Given the description of an element on the screen output the (x, y) to click on. 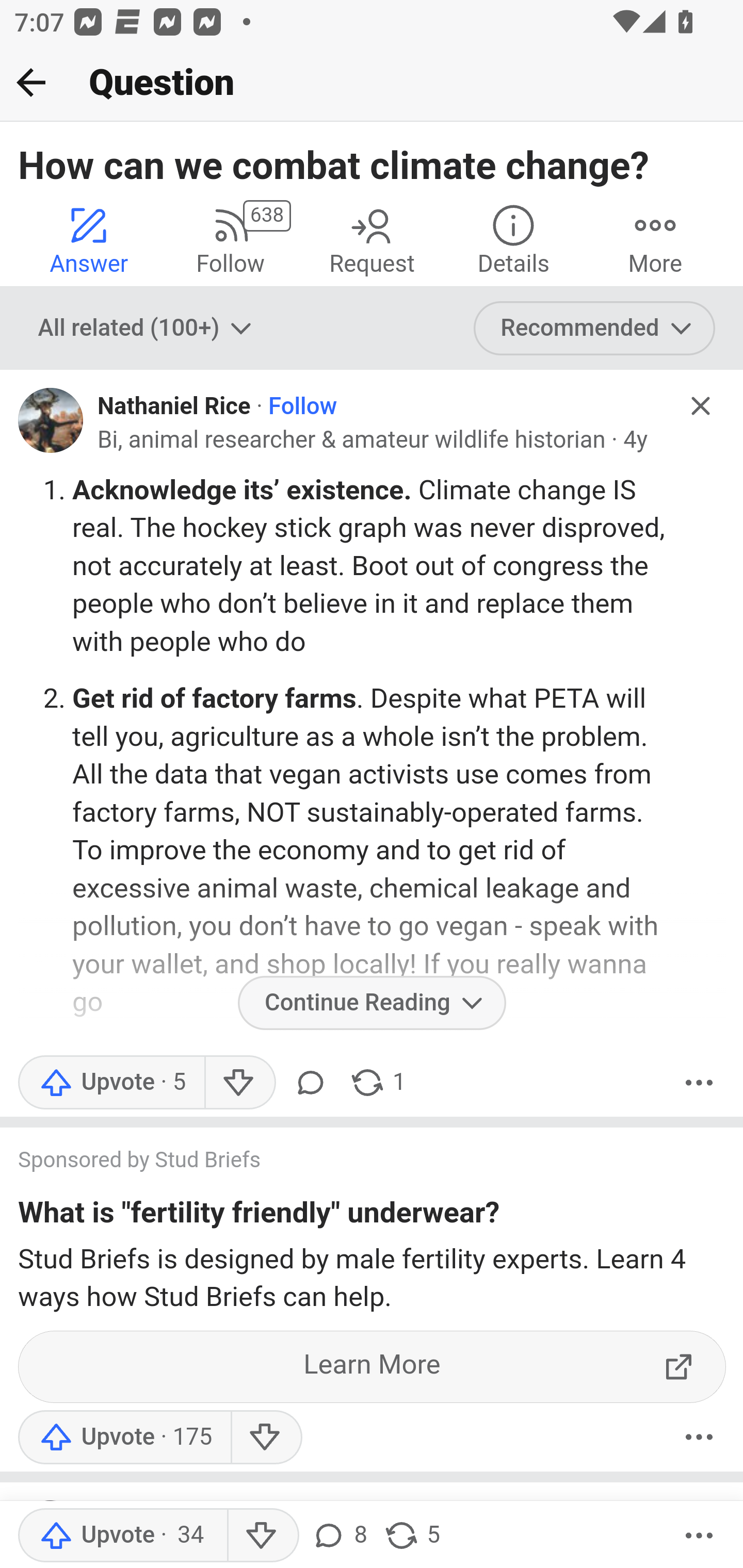
Back Question (371, 82)
Back (30, 82)
Answer (88, 239)
638 Follow (230, 239)
Request (371, 239)
Details (513, 239)
More (655, 239)
All related (100+) (146, 327)
Recommended (594, 327)
Hide (700, 405)
Profile photo for Nathaniel Rice (50, 420)
Nathaniel Rice (174, 406)
Follow (302, 406)
4y 4 y (634, 439)
Continue Reading (371, 1003)
Upvote (111, 1083)
Downvote (238, 1083)
Comment (310, 1083)
1 share (377, 1083)
More (699, 1083)
Sponsored by Stud Briefs (352, 1161)
What is "fertility friendly" underwear? (258, 1215)
Learn More ExternalLink (372, 1366)
Upvote (124, 1436)
Downvote (266, 1436)
More (699, 1436)
Hide (700, 1517)
Profile photo for Srikar Durgi (50, 1532)
Upvote (122, 1535)
Downvote (262, 1535)
8 comments (338, 1535)
5 shares (411, 1535)
